Given the description of an element on the screen output the (x, y) to click on. 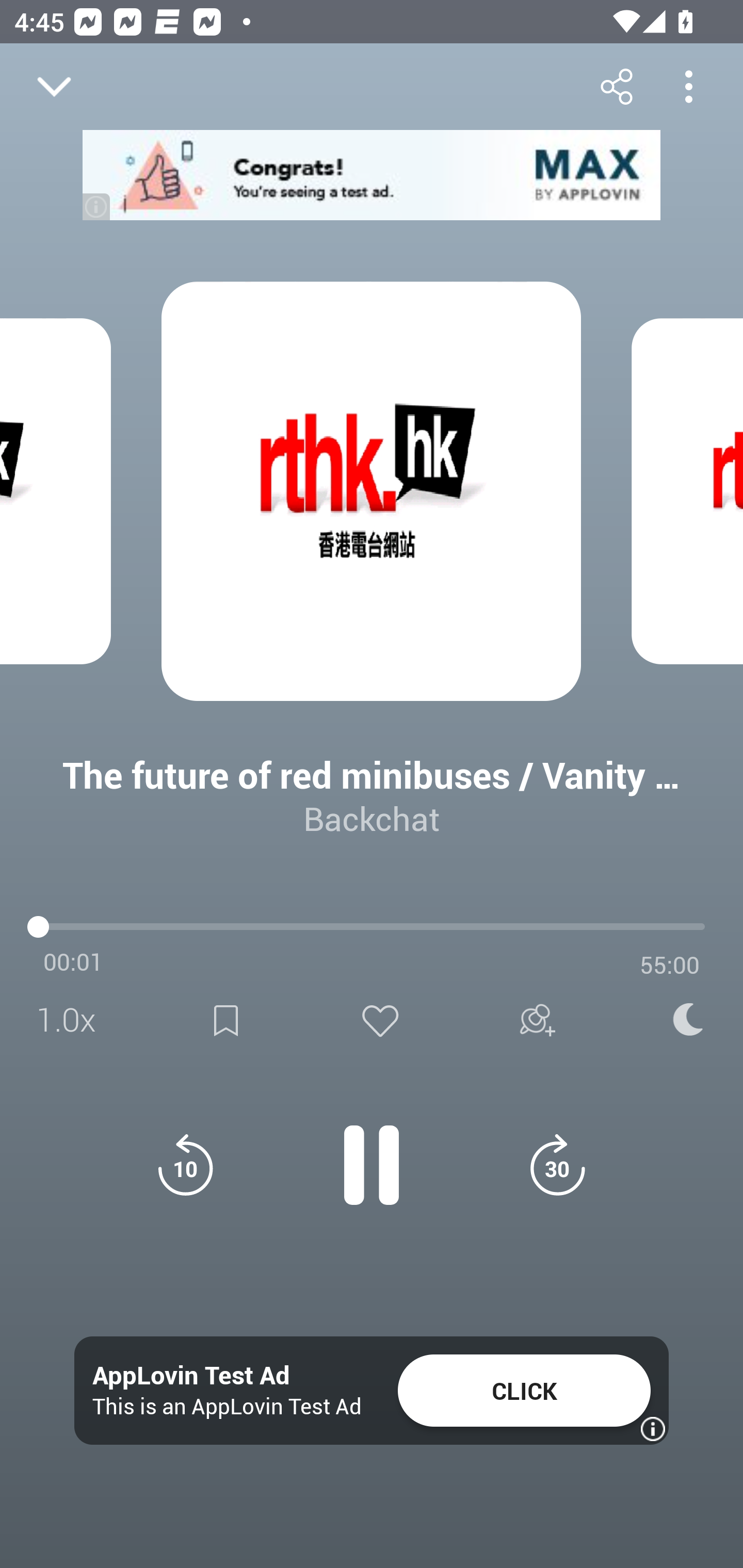
Close fullscreen player (54, 86)
Share (616, 86)
More options (688, 86)
app-monetization (371, 175)
(i) (96, 206)
Backchat (371, 818)
Open series Backchat (93, 994)
55:00 (669, 964)
1.0x Speed (72, 1020)
Like (380, 1020)
Pause button (371, 1153)
Jump back (185, 1164)
Jump forward (557, 1164)
CLICK (523, 1390)
AppLovin Test Ad (191, 1375)
This is an AppLovin Test Ad (226, 1406)
